Given the description of an element on the screen output the (x, y) to click on. 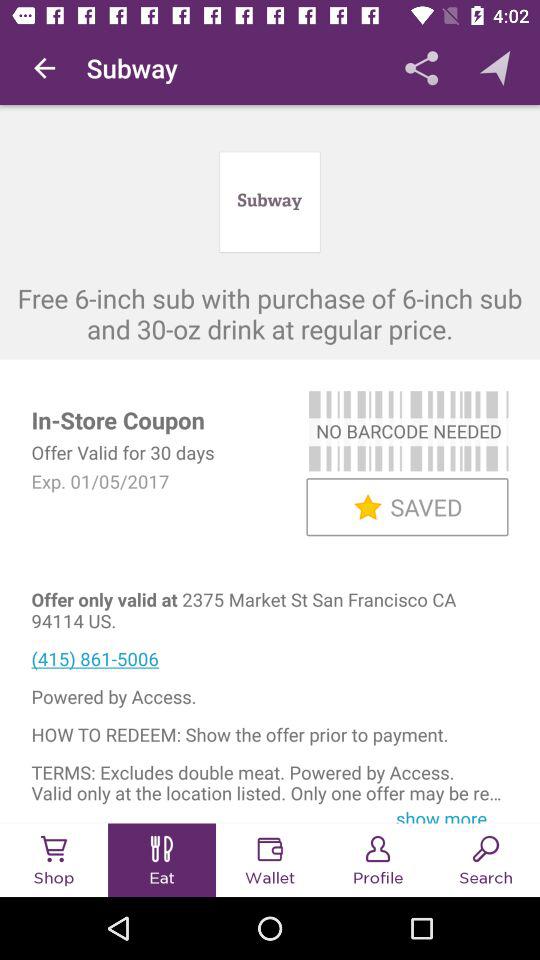
turn off the icon next to subway app (44, 68)
